Given the description of an element on the screen output the (x, y) to click on. 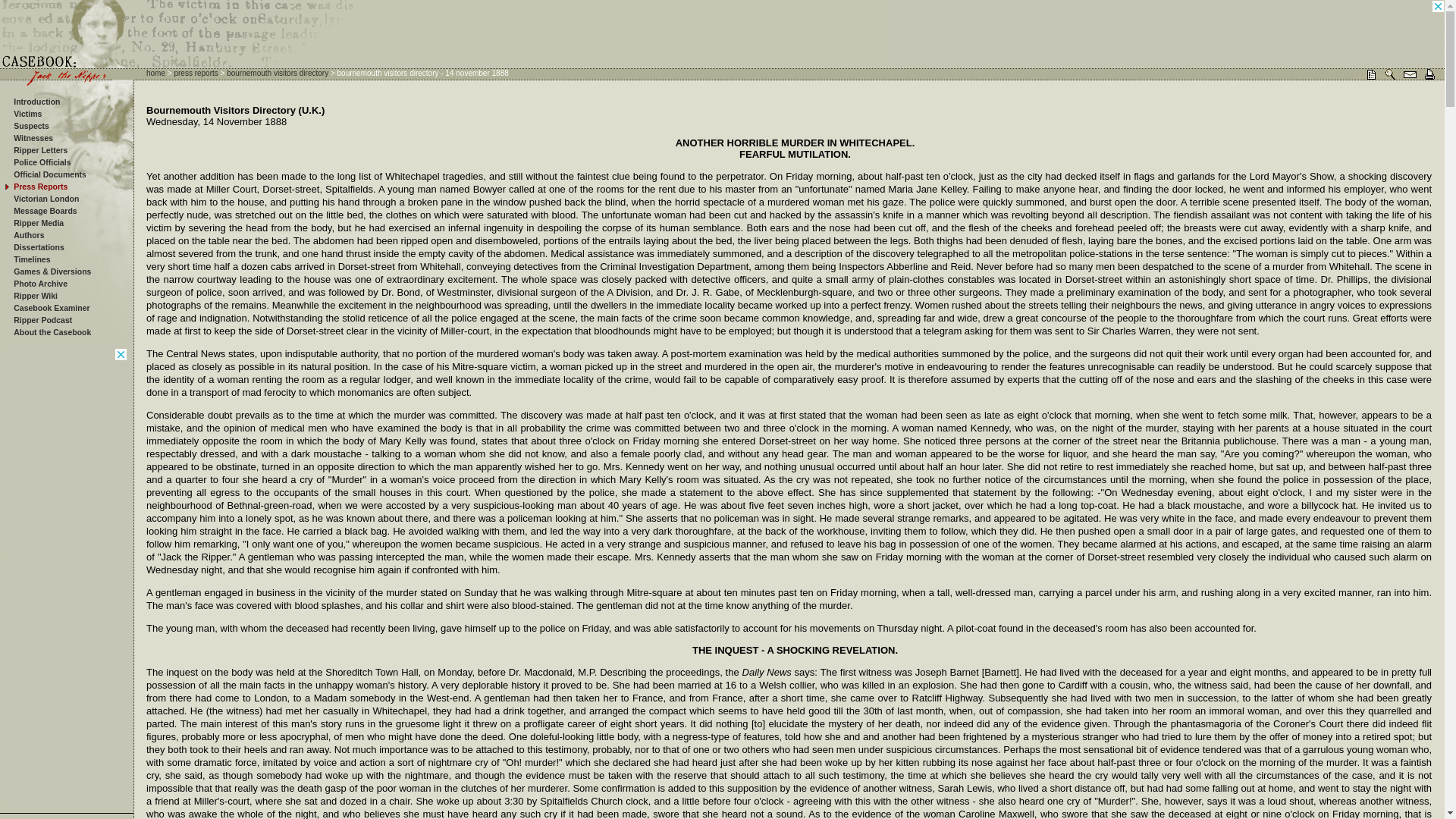
bournemouth visitors directory (278, 72)
Message Boards (45, 210)
Victorian London (45, 198)
Ripper Media (38, 222)
Ripper Wiki (35, 295)
Casebook Examiner (50, 307)
Timelines (31, 258)
Photo Archive (39, 283)
Victims (27, 112)
home (156, 72)
Official Documents (49, 174)
About the Casebook (51, 331)
Police Officials (41, 162)
Suspects (31, 125)
Ripper Letters (39, 149)
